Given the description of an element on the screen output the (x, y) to click on. 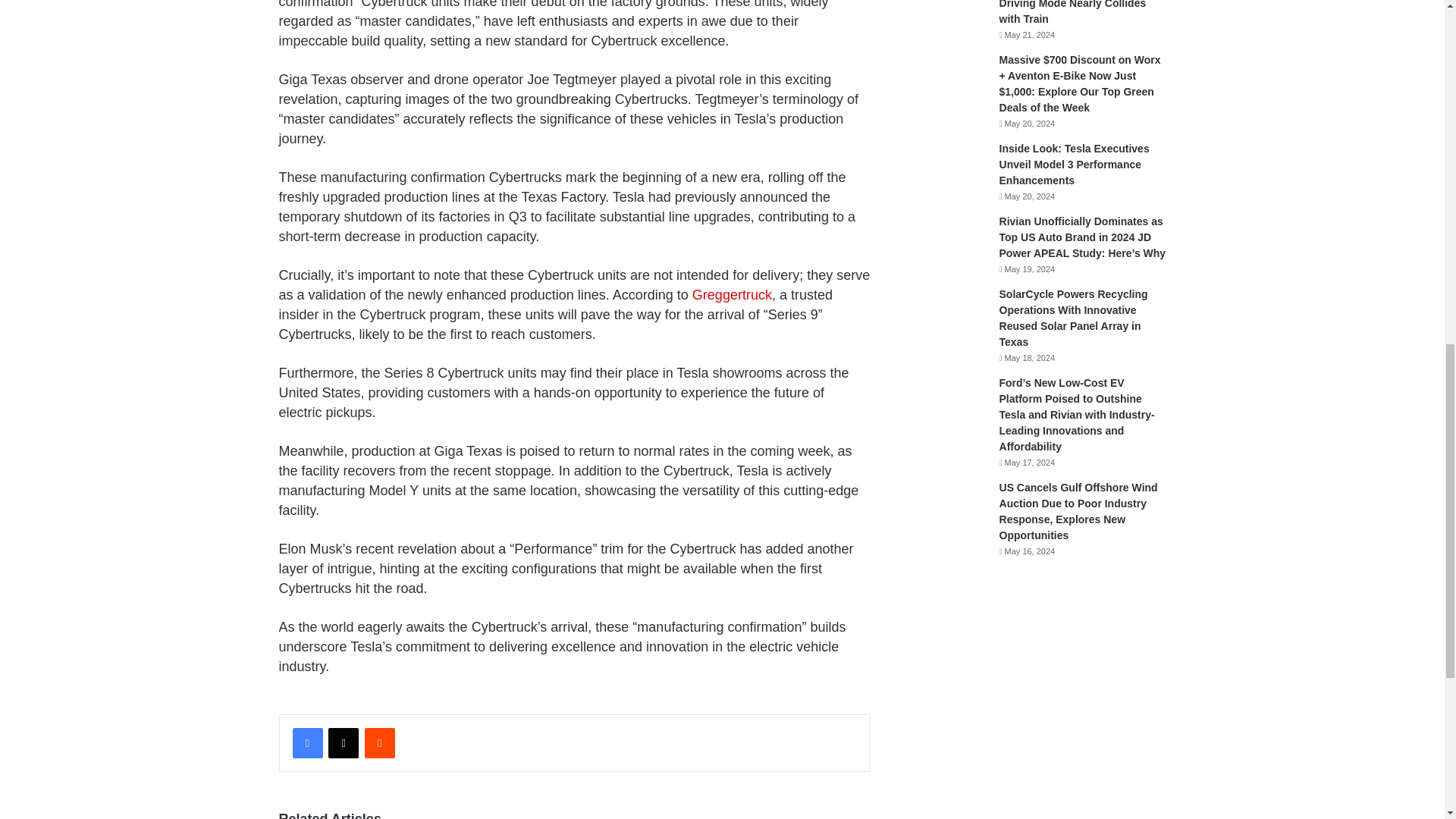
X (343, 743)
Reddit (379, 743)
X (343, 743)
Facebook (307, 743)
Greggertruck (732, 294)
Facebook (307, 743)
Reddit (379, 743)
